Given the description of an element on the screen output the (x, y) to click on. 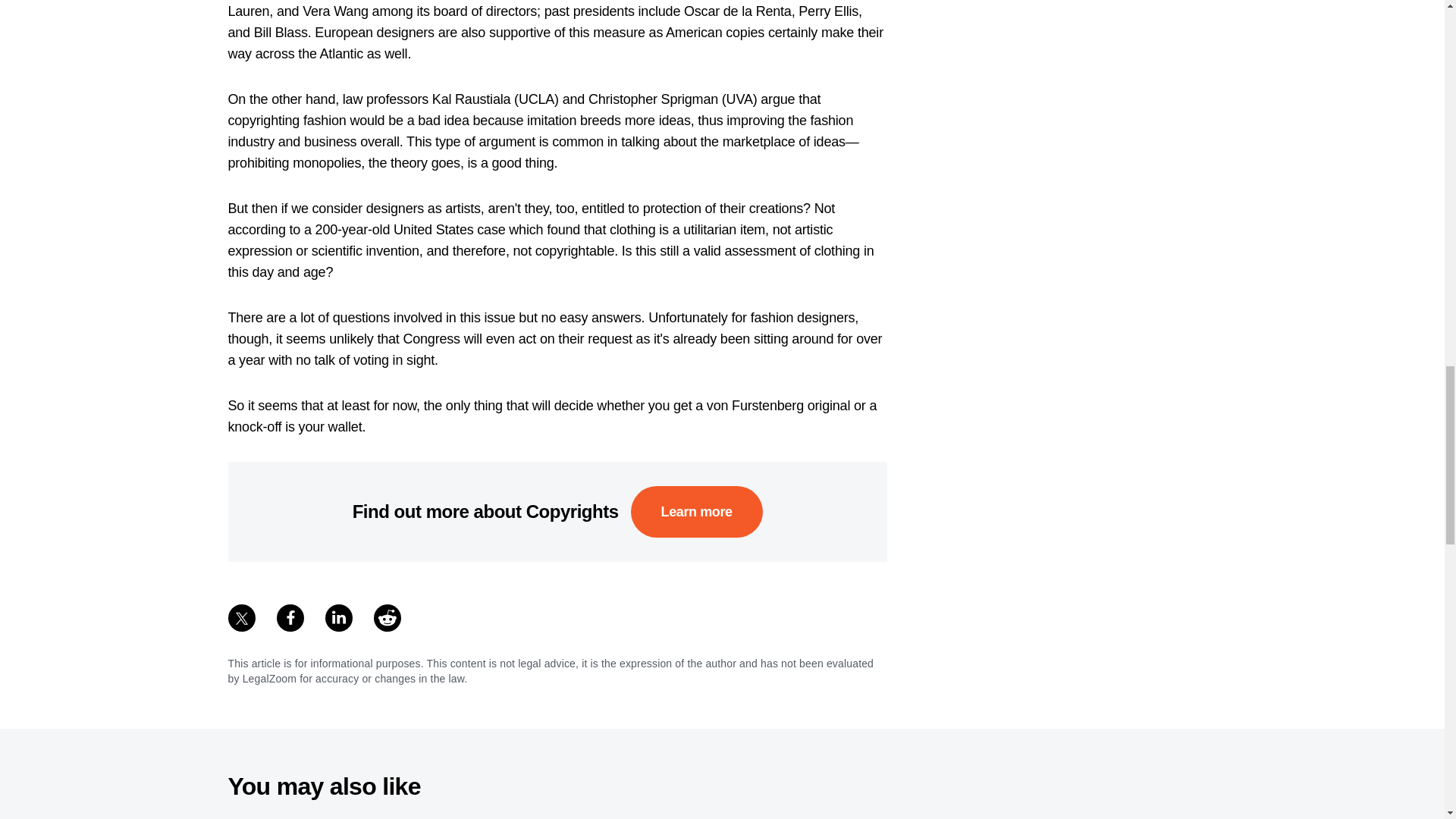
Share to Facebook (289, 617)
Learn more (696, 511)
Share to Reddit (386, 617)
Share to Twitter (240, 617)
Share to LinkedIn (338, 617)
